Given the description of an element on the screen output the (x, y) to click on. 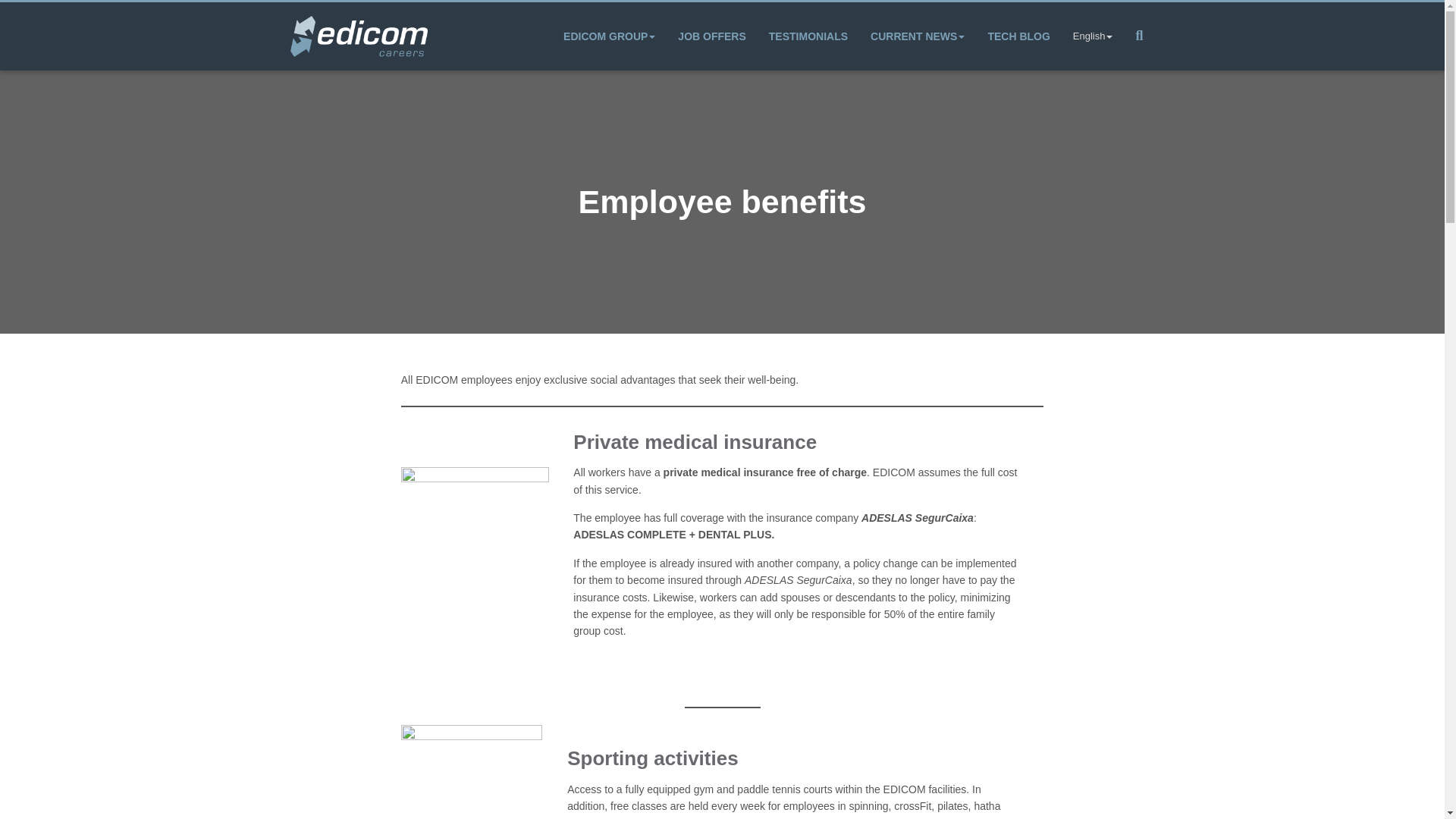
Job Offers (711, 36)
TESTIMONIALS (808, 36)
JOB OFFERS (711, 36)
Current news (917, 36)
Tech Blog (1018, 36)
TECH BLOG (1018, 36)
EDICOM Group (608, 36)
EDICOM GROUP (608, 36)
English (1092, 36)
CURRENT NEWS (917, 36)
